Given the description of an element on the screen output the (x, y) to click on. 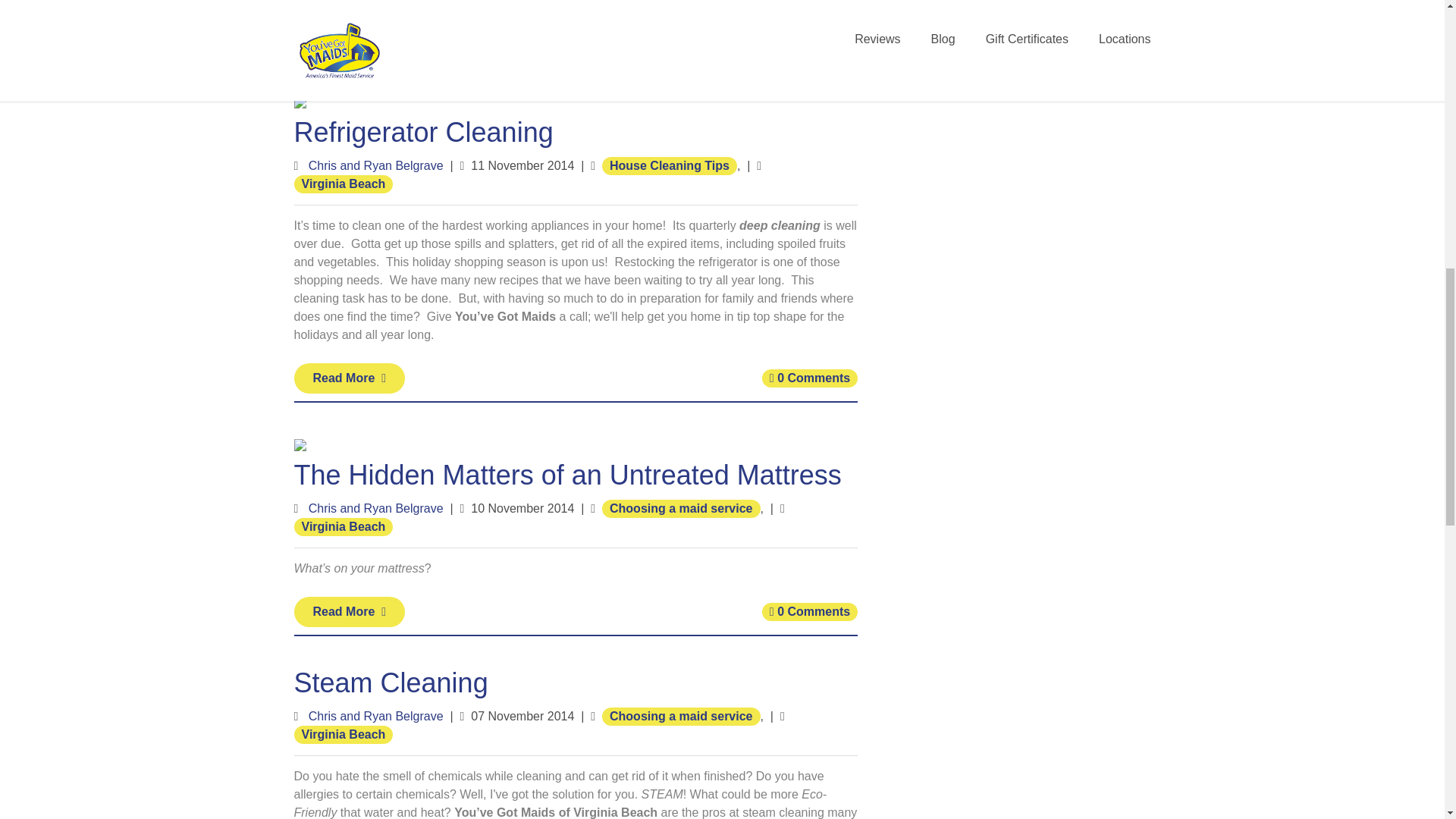
The Hidden Matters of an Untreated Mattress (567, 474)
Virginia Beach (343, 183)
Chris and Ryan Belgrave (376, 164)
Chris and Ryan Belgrave (376, 508)
0 Comments (809, 34)
deep cleaning (780, 224)
0 Comments (809, 377)
Read More   (350, 377)
Read More   (350, 34)
Refrigerator Cleaning (423, 132)
Read More   (350, 611)
Choosing a maid service (681, 507)
0 Comments (809, 610)
House Cleaning Tips (669, 165)
Virginia Beach (343, 525)
